Given the description of an element on the screen output the (x, y) to click on. 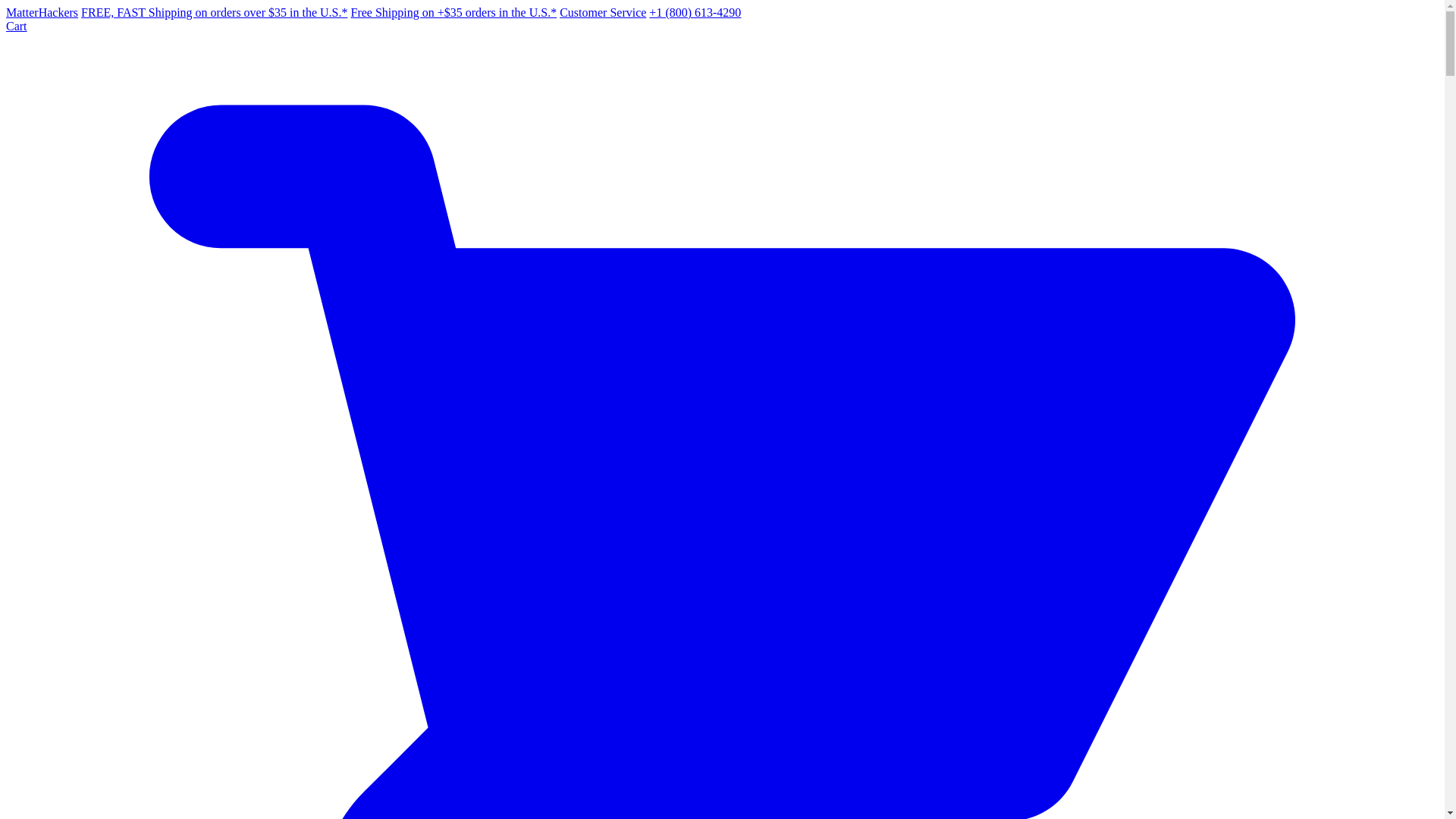
Customer Service (602, 11)
MatterHackers (41, 11)
